Given the description of an element on the screen output the (x, y) to click on. 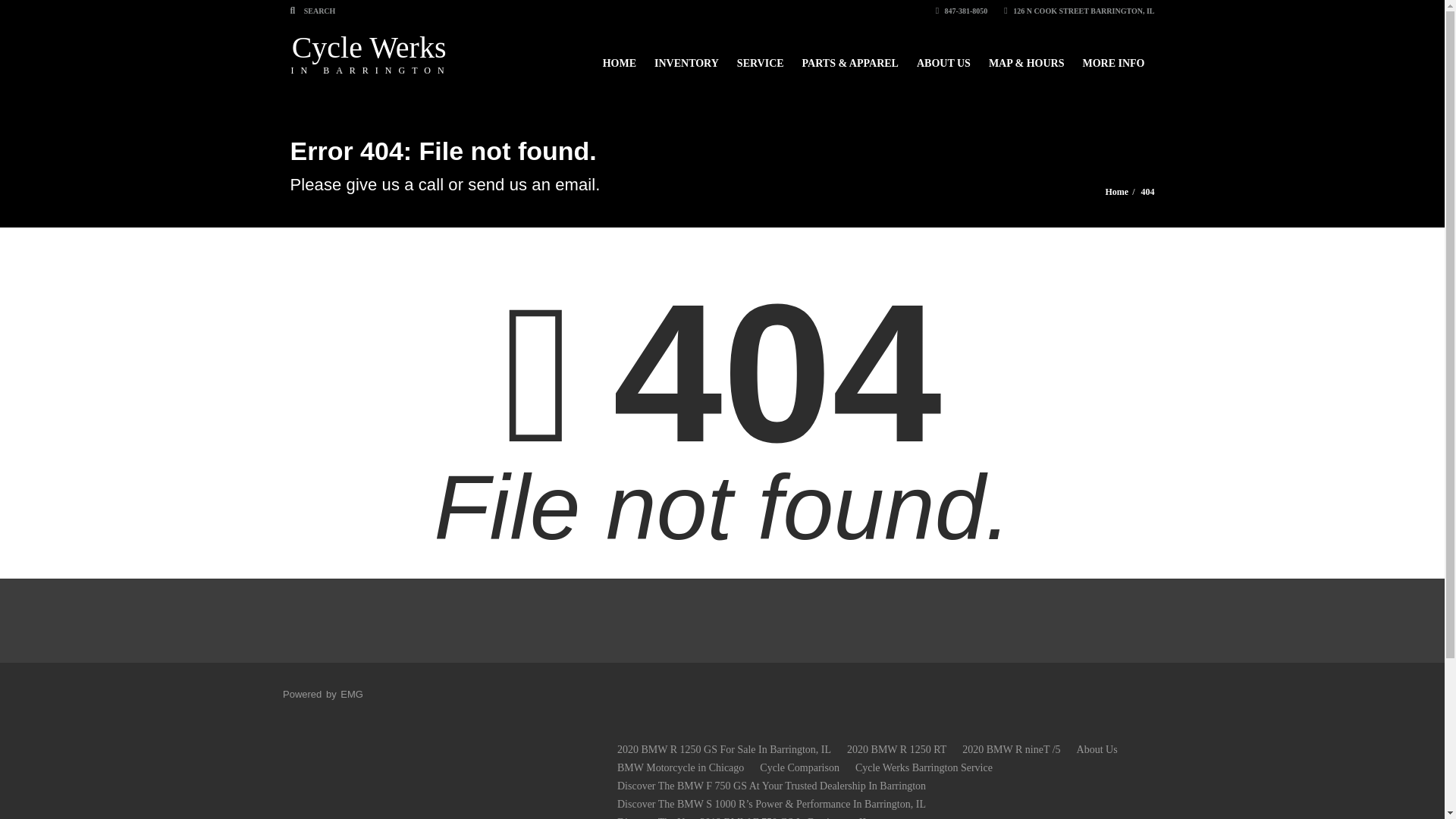
2020 BMW R 1250 GS For Sale In Barrington, IL (724, 749)
126 N COOK STREET BARRINGTON, IL (1079, 10)
INVENTORY (686, 56)
404 (1147, 191)
Home (1116, 191)
847-381-8050 (962, 10)
SERVICE (760, 56)
Powered by EMG (371, 53)
MORE INFO (322, 694)
